Given the description of an element on the screen output the (x, y) to click on. 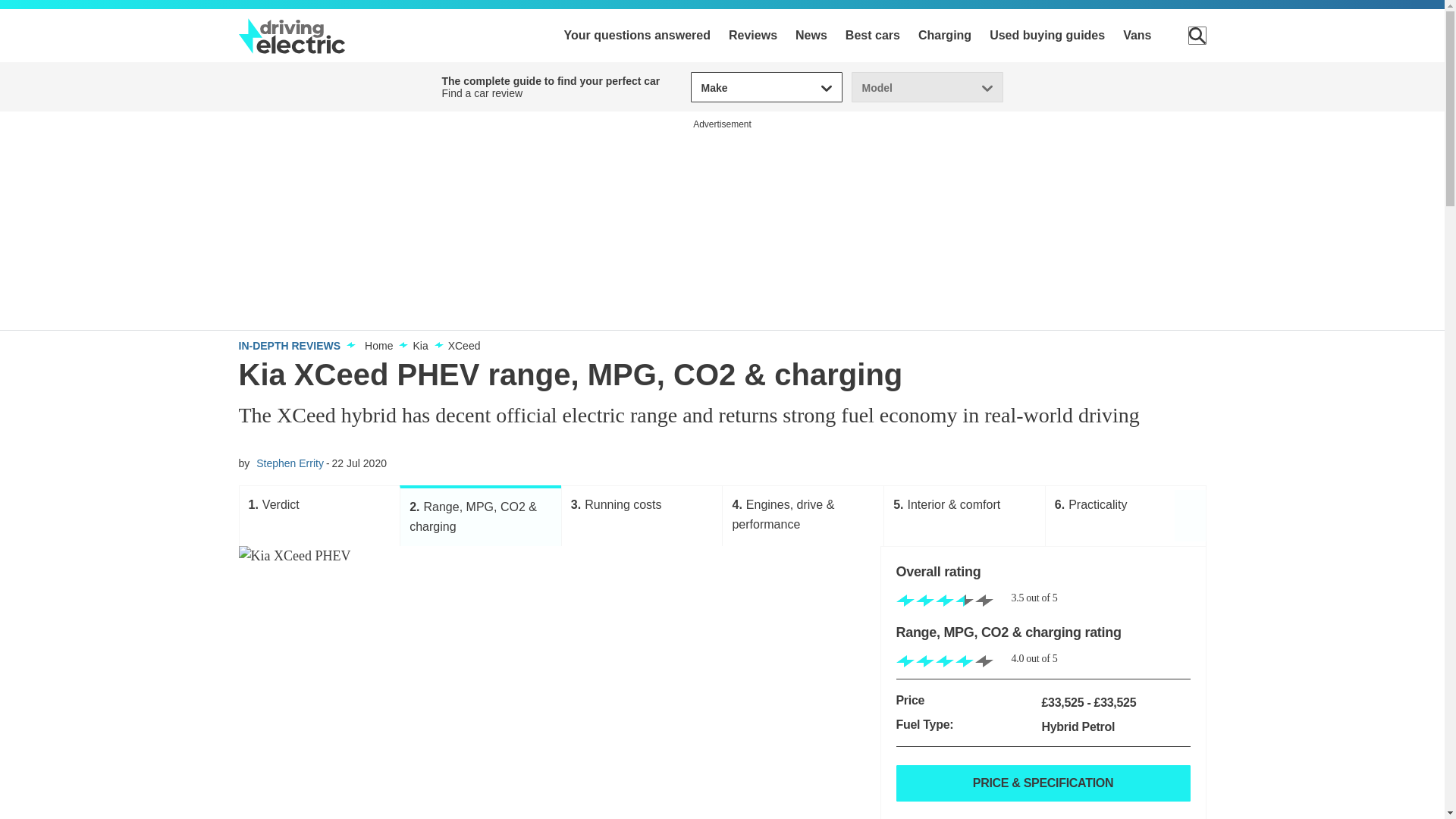
Kia (420, 345)
Charging (944, 35)
Reviews (753, 35)
3.5 Stars (944, 601)
1Verdict (320, 516)
3Running costs (642, 516)
6Practicality (1126, 516)
Stephen Errity (289, 463)
Home (379, 345)
Best cars (872, 35)
SEARCH (1196, 35)
XCeed (464, 345)
4 Stars (944, 662)
Search (1196, 35)
Your questions answered (636, 35)
